Given the description of an element on the screen output the (x, y) to click on. 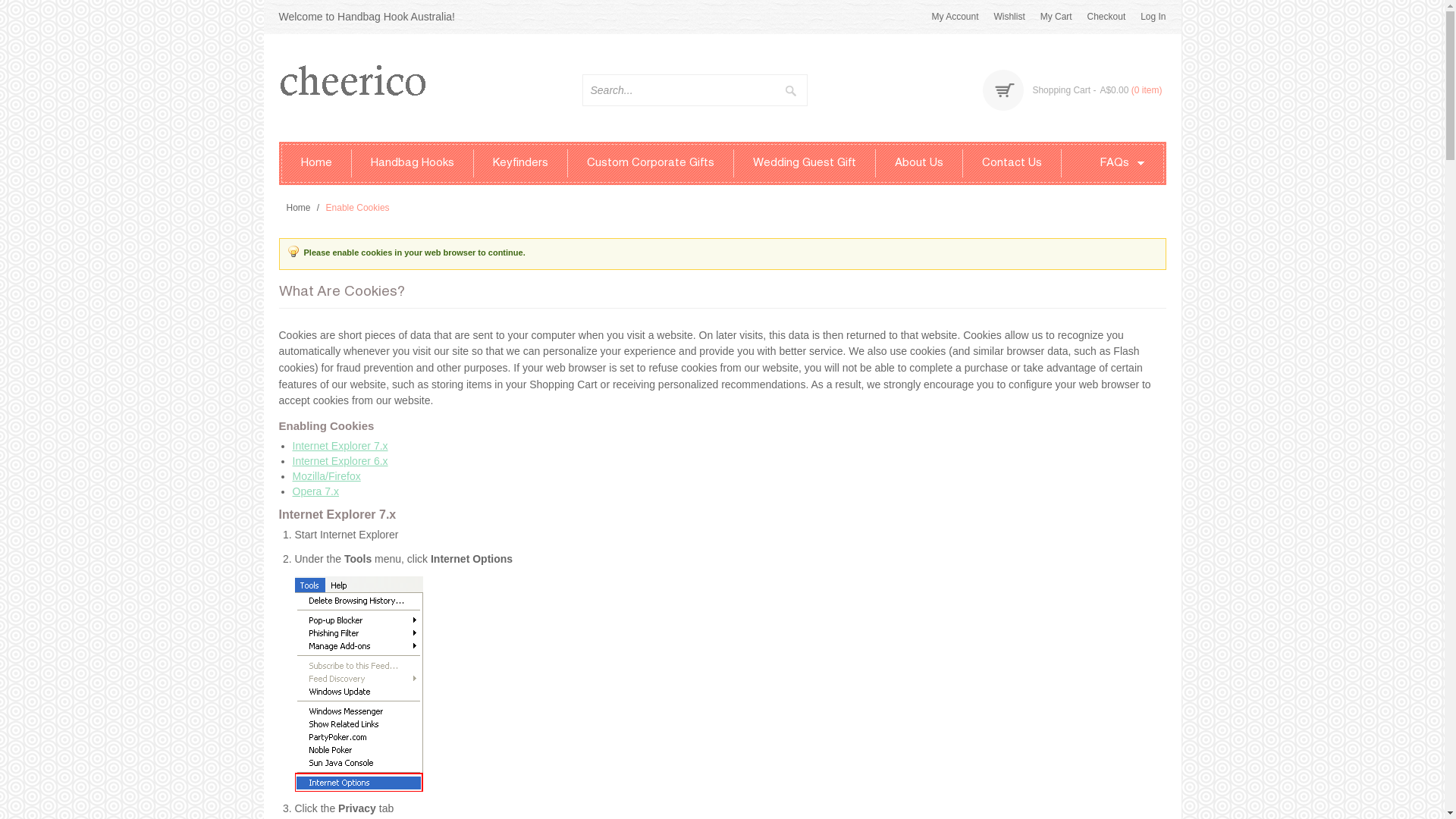
(0 item) Element type: text (1146, 89)
Wedding Guest Gift Element type: text (804, 163)
Opera 7.x Element type: text (315, 491)
My Account Element type: text (954, 16)
Checkout Element type: text (1106, 16)
Internet Explorer 7.x Element type: text (340, 445)
Keyfinders Element type: text (520, 163)
Custom Corporate Gifts Element type: text (650, 163)
Handbag Hooks Element type: text (412, 163)
Home Element type: text (316, 163)
Home Element type: text (298, 207)
Contact Us Element type: text (1012, 163)
Magento Commerce Element type: hover (373, 85)
Search Element type: text (791, 90)
Mozilla/Firefox Element type: text (326, 476)
Log In Element type: text (1152, 16)
About Us Element type: text (918, 163)
Internet Explorer 6.x Element type: text (340, 461)
My Cart Element type: text (1056, 16)
Wishlist Element type: text (1008, 16)
